Given the description of an element on the screen output the (x, y) to click on. 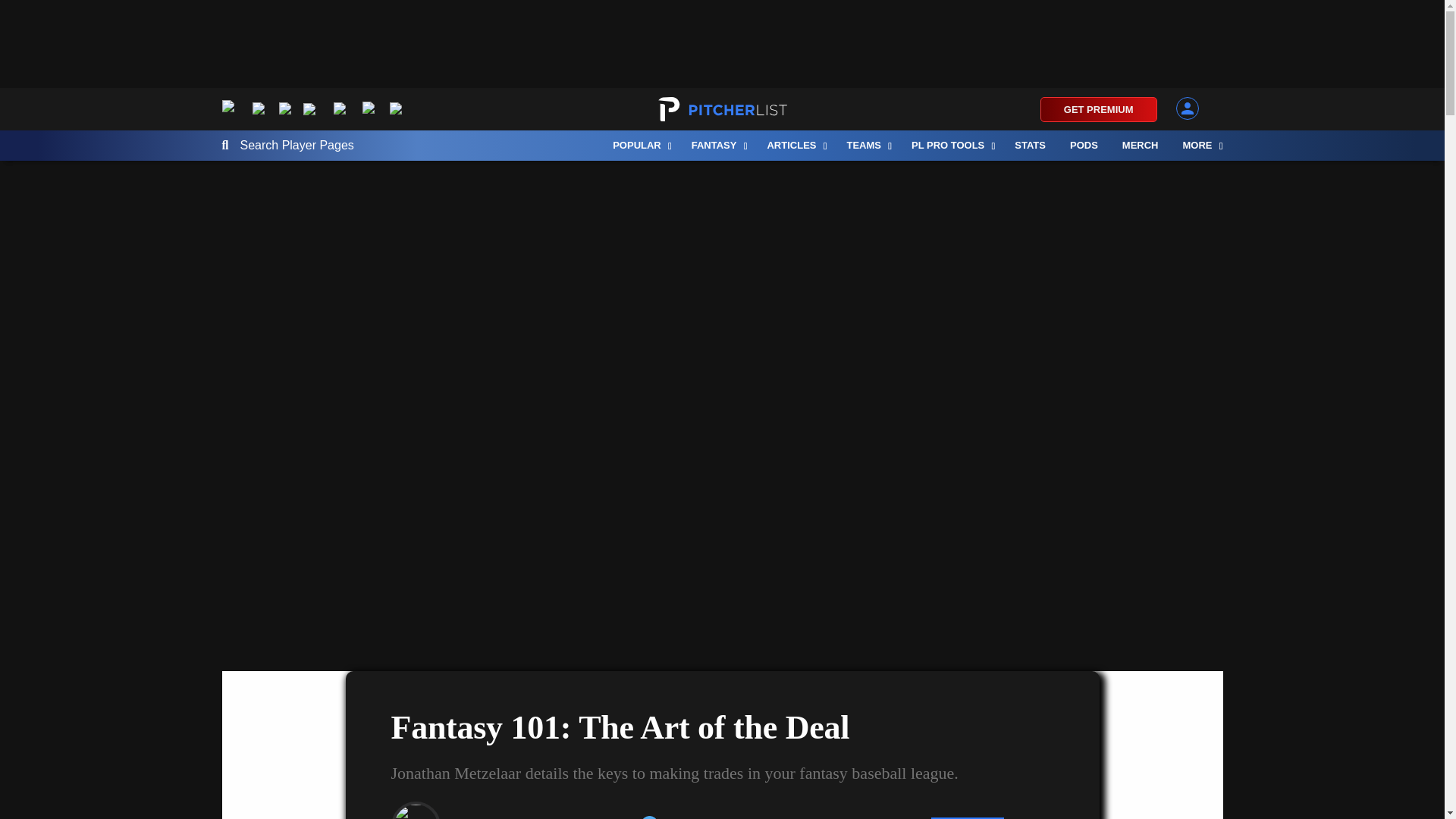
FANTASY (717, 145)
GET PREMIUM (1099, 109)
